Given the description of an element on the screen output the (x, y) to click on. 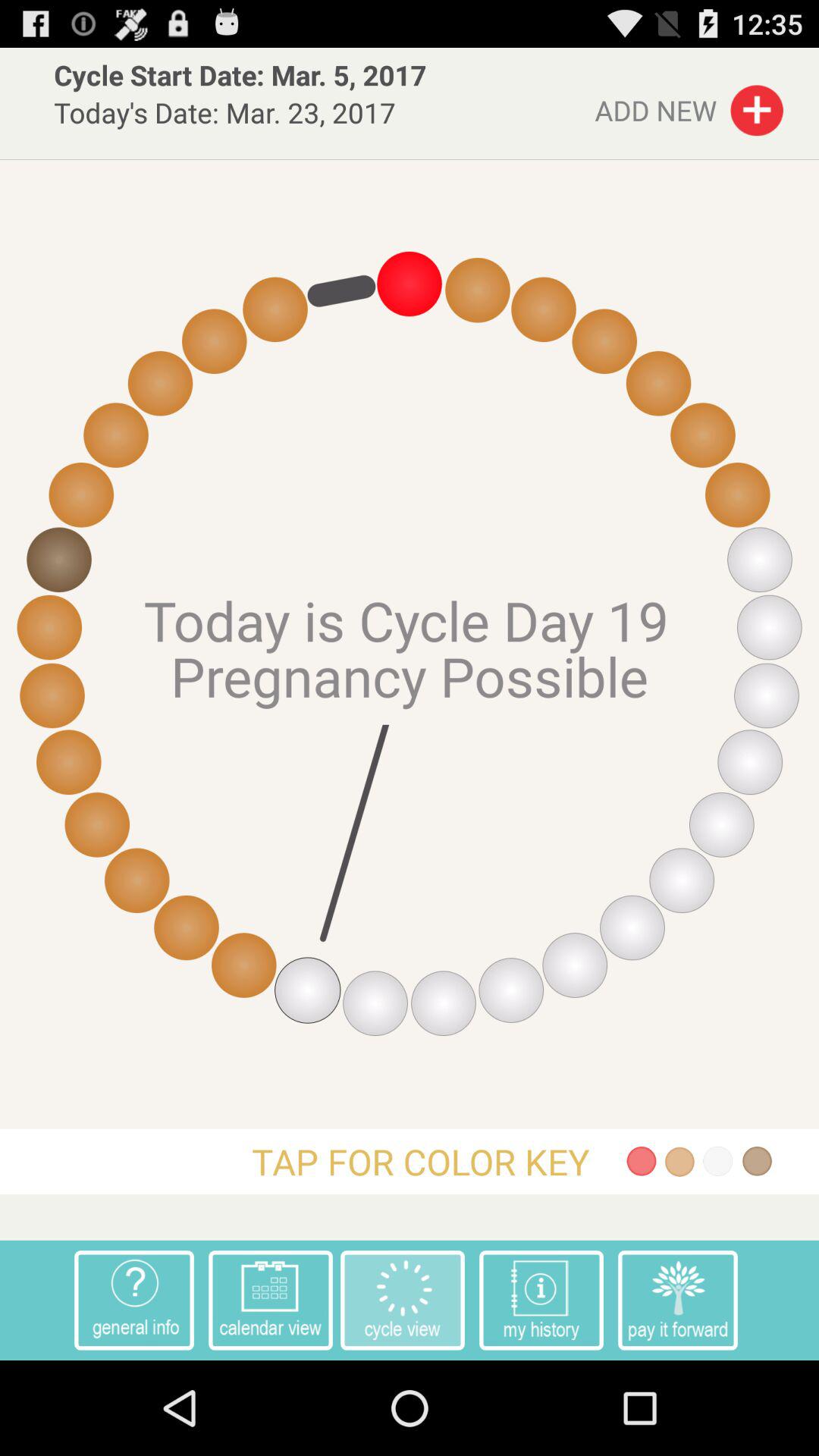
open the icon below the tap for color (270, 1300)
